Given the description of an element on the screen output the (x, y) to click on. 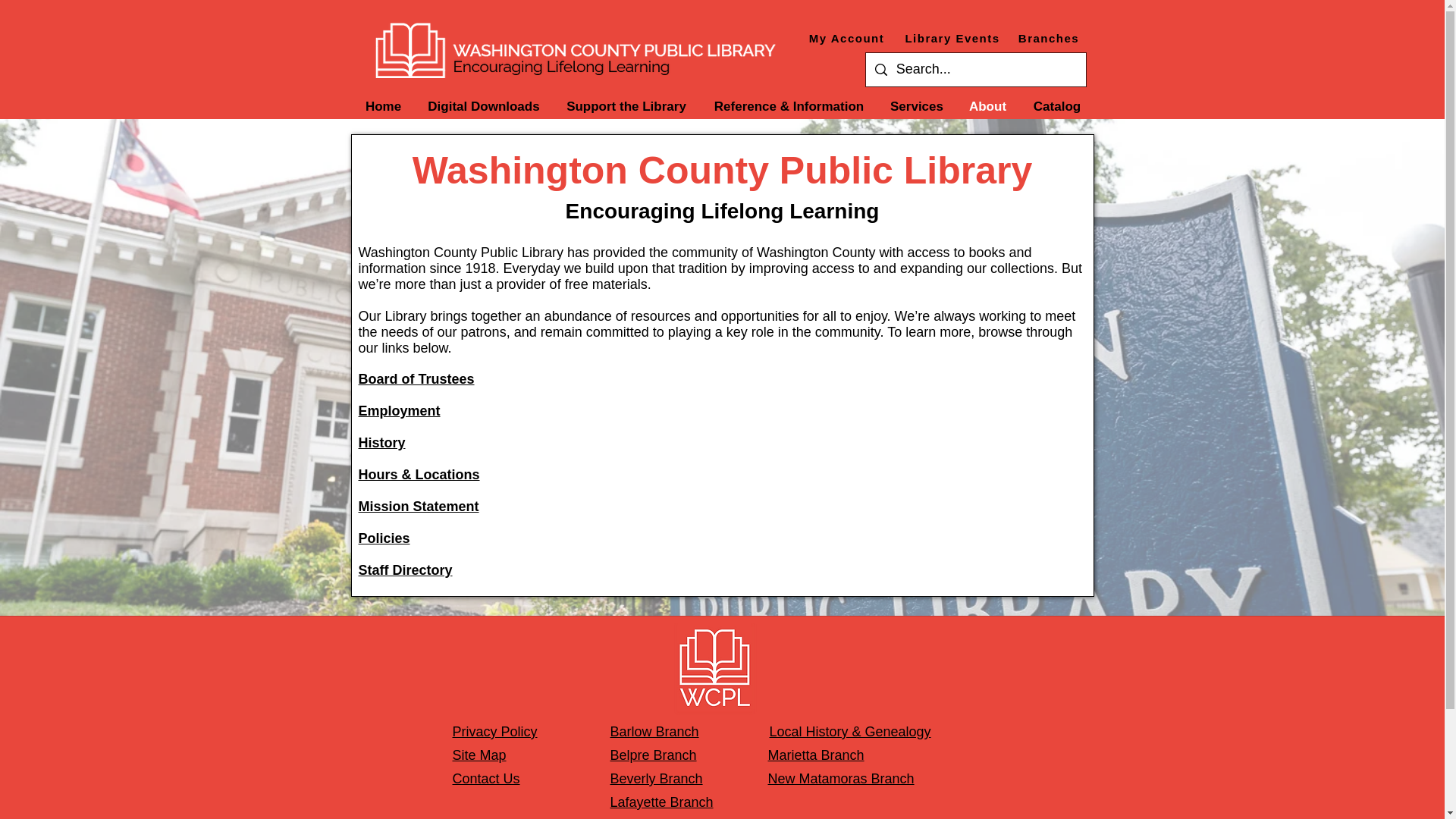
Home (383, 106)
Support the Library (625, 106)
About (987, 106)
Services (916, 106)
My Account (848, 37)
Library Events (953, 37)
Digital Downloads (483, 106)
